Given the description of an element on the screen output the (x, y) to click on. 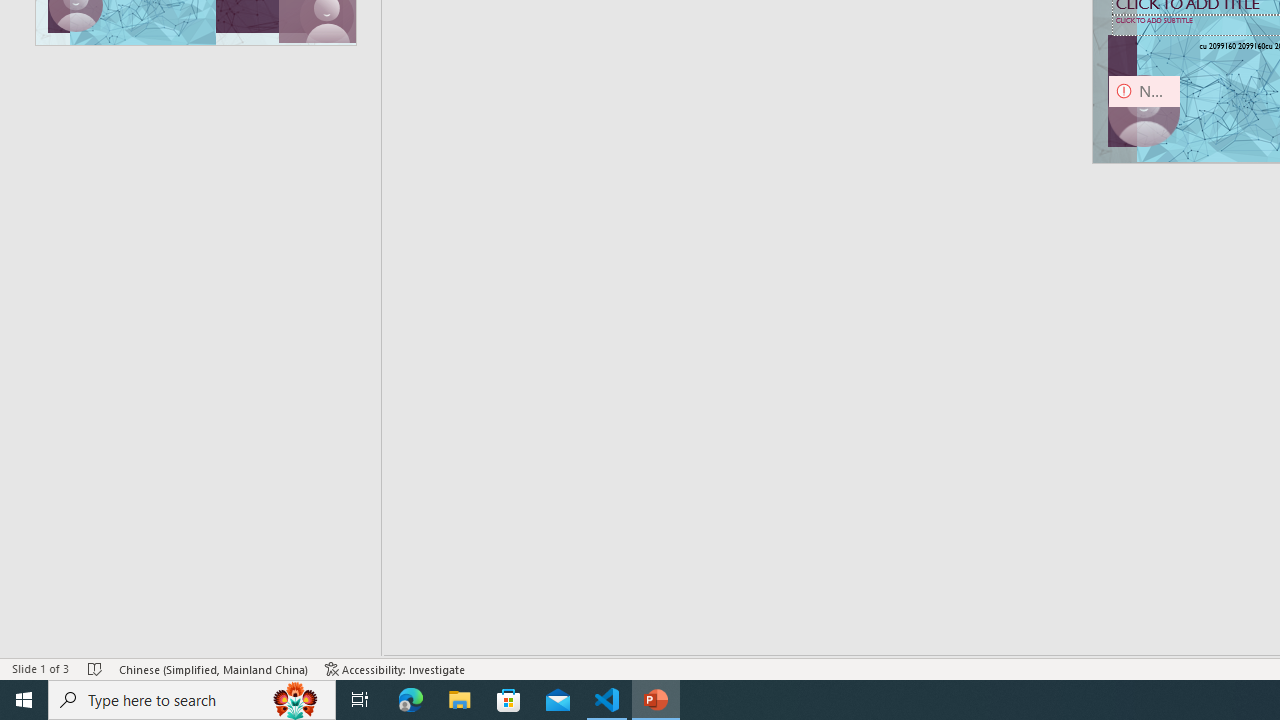
Camera 9, No camera detected. (1144, 111)
